Given the description of an element on the screen output the (x, y) to click on. 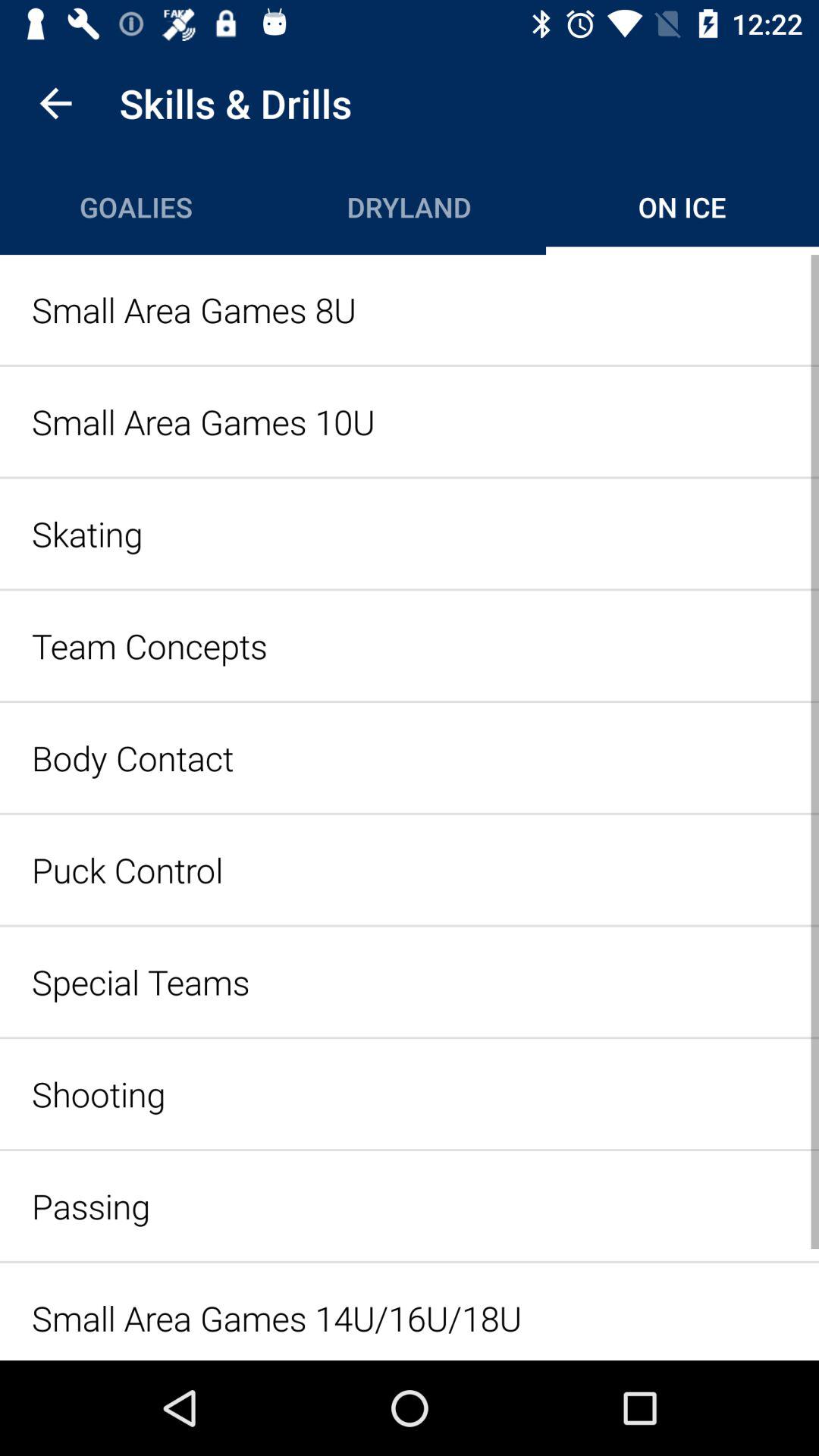
select the icon above the special teams (409, 869)
